Given the description of an element on the screen output the (x, y) to click on. 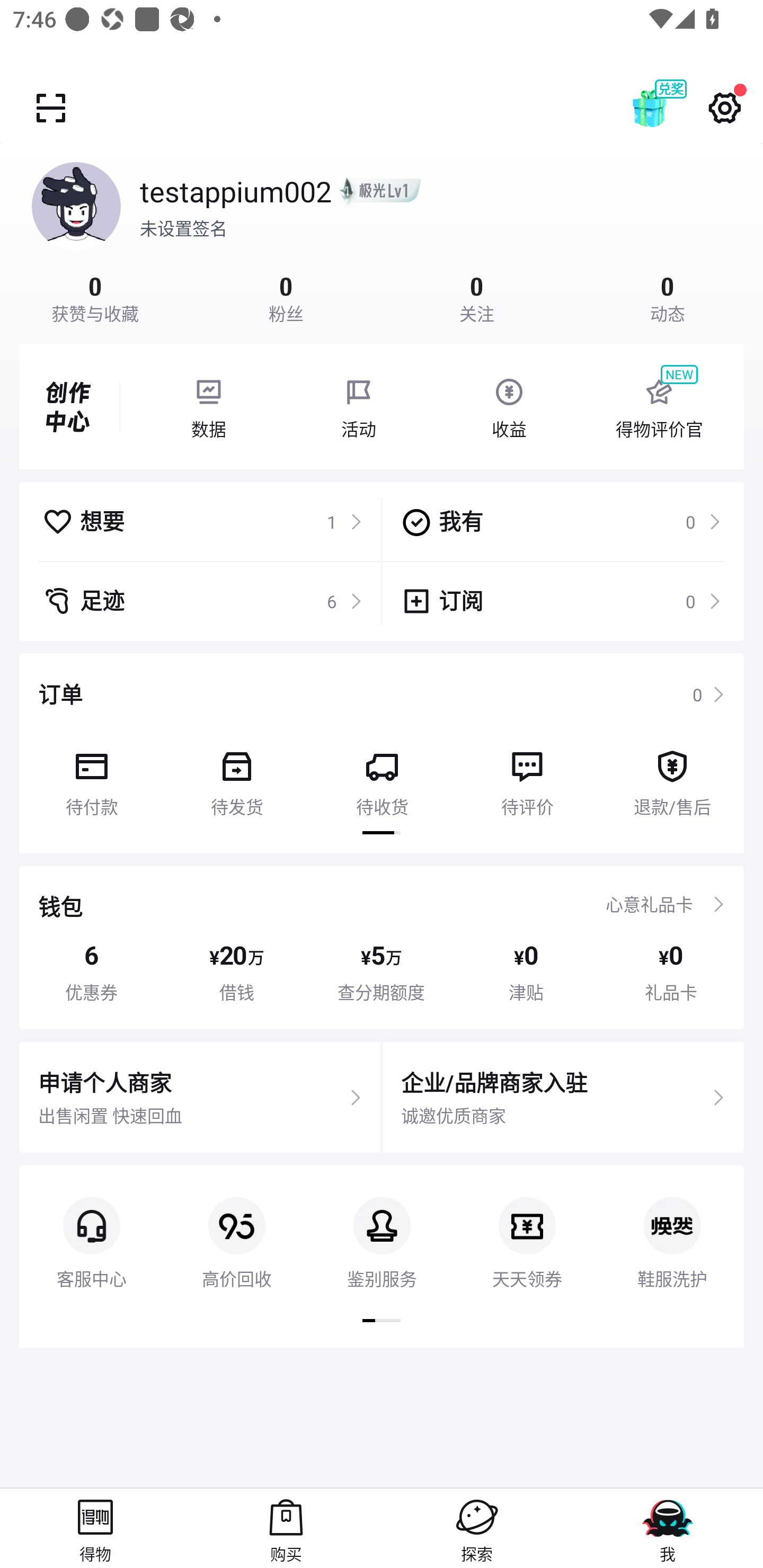
兑奖 (667, 107)
testappium002 未设置签名 0 获赞与收藏 0 粉丝 0 关注 0 动态 (381, 233)
0 获赞与收藏 (95, 296)
0 粉丝 (285, 296)
0 关注 (476, 296)
0 动态 (667, 296)
数据 (208, 406)
活动 (358, 406)
收益 (508, 406)
NEW 得物评价官 (658, 406)
想要 1 (201, 521)
我有 0 (560, 521)
足迹 6 (201, 601)
订阅 0 (560, 601)
订单 0 待付款 待发货 待收货 待评价 退款/售后 (381, 752)
待付款 (91, 776)
待发货 (236, 776)
待收货 (381, 776)
待评价 (526, 776)
退款/售后 (671, 776)
心意礼品卡 (648, 903)
6 优惠券 (91, 971)
¥ 20 万 借钱 (236, 971)
¥ 5 万 查分期额度 (381, 971)
¥ 0 津贴 (525, 971)
¥ 0 礼品卡 (670, 971)
申请个人商家 出售闲置 快速回血 (199, 1097)
企业/品牌商家入驻 诚邀优质商家 (562, 1097)
客服中心 (91, 1227)
高价回收 (236, 1227)
鉴别服务 (381, 1227)
天天领券 (526, 1227)
鞋服洗护 (671, 1227)
得物 (95, 1528)
购买 (285, 1528)
探索 (476, 1528)
我 (667, 1528)
